Given the description of an element on the screen output the (x, y) to click on. 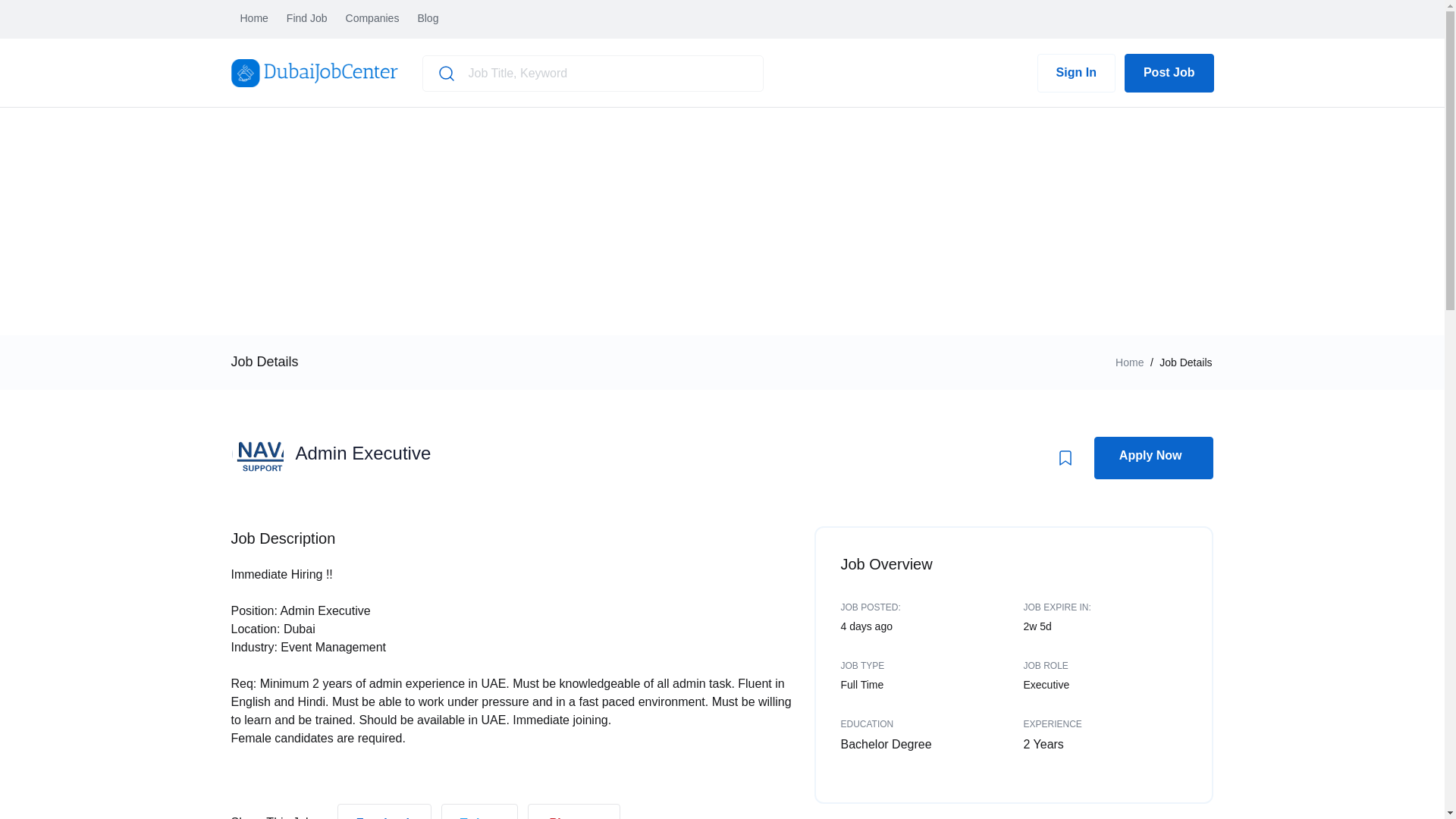
Twitter (479, 817)
Sign In (1075, 73)
Companies (372, 19)
Pinterest (573, 817)
Twitter (479, 811)
Admin Executive (362, 453)
Home (1128, 362)
Find Job (306, 19)
Facebook (384, 811)
Facebook (384, 817)
